Given the description of an element on the screen output the (x, y) to click on. 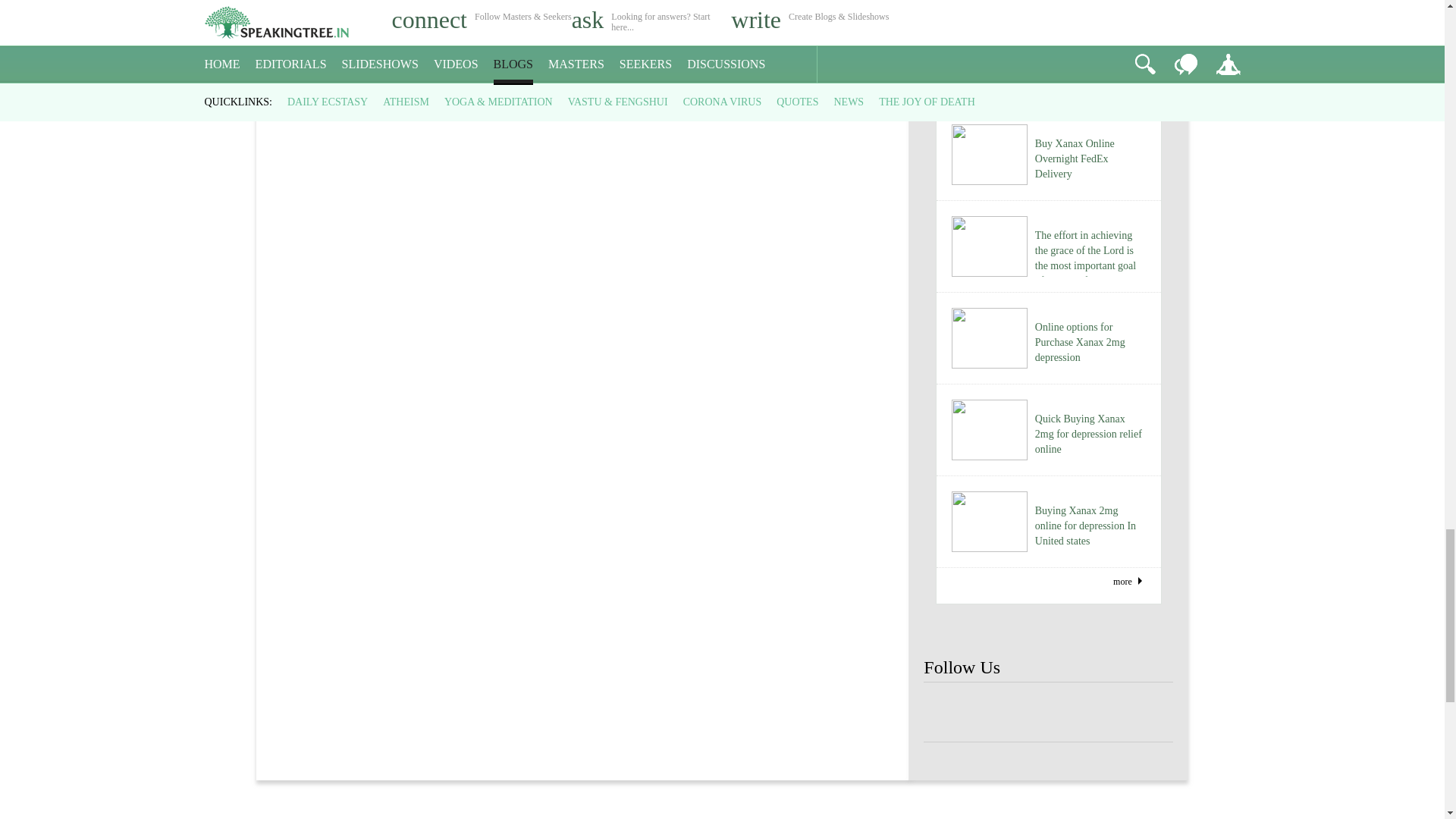
Speaking Tree FaceBook (948, 712)
Speaking Tree FaceBook (998, 712)
Speaking Tree FaceBook (1147, 712)
Speaking Tree FaceBook (1099, 712)
Speaking Tree FaceBook (1048, 712)
